Given the description of an element on the screen output the (x, y) to click on. 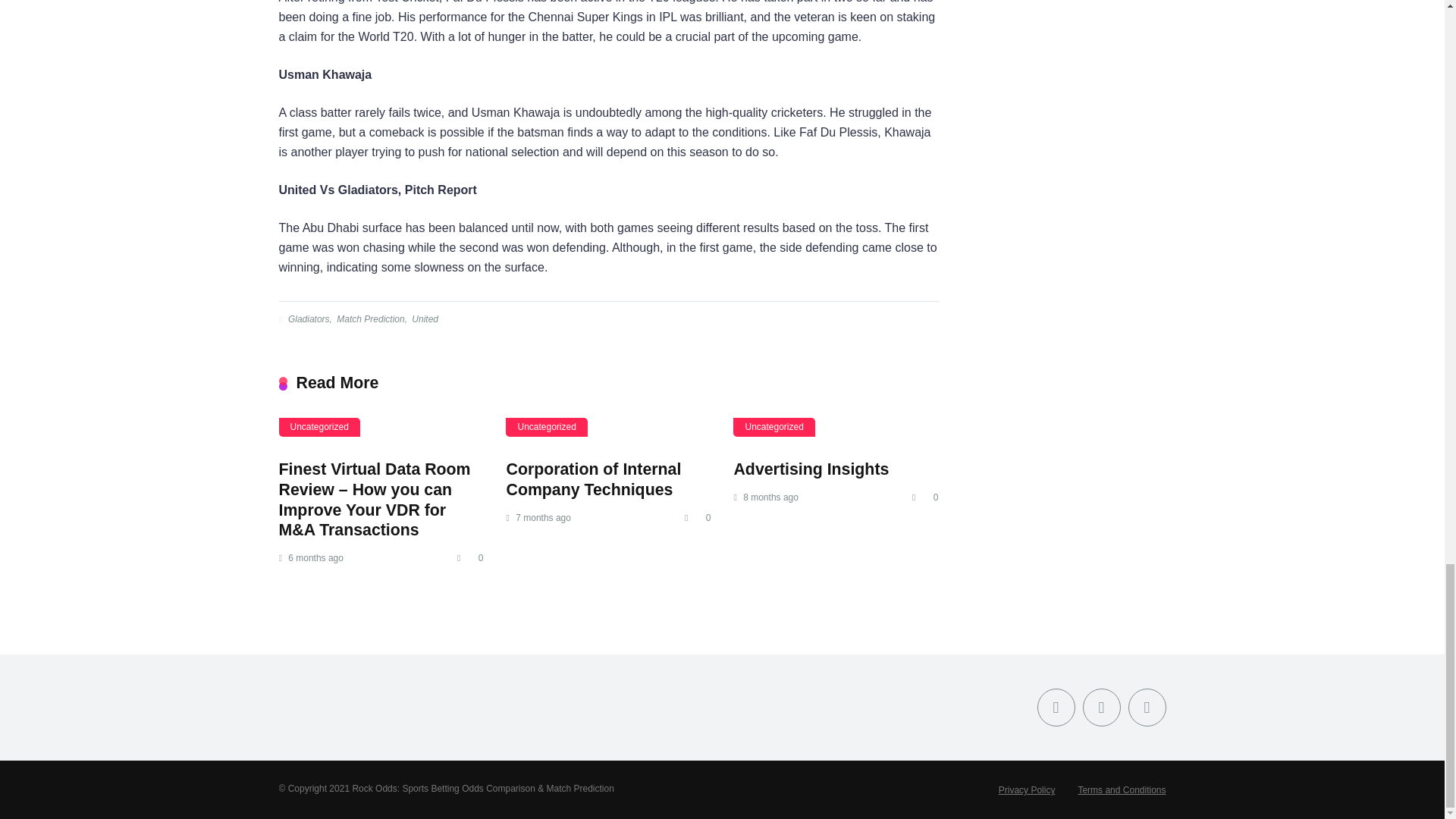
Gladiators (307, 318)
Advertising Insights (810, 469)
Corporation of Internal Company Techniques (593, 479)
Uncategorized (773, 426)
Advertising Insights (810, 469)
Corporation of Internal Company Techniques (593, 479)
YouTube (1147, 707)
United (423, 318)
Facebook (1055, 707)
Uncategorized (545, 426)
Match Prediction (369, 318)
Twitter (1102, 707)
Uncategorized (319, 426)
